Given the description of an element on the screen output the (x, y) to click on. 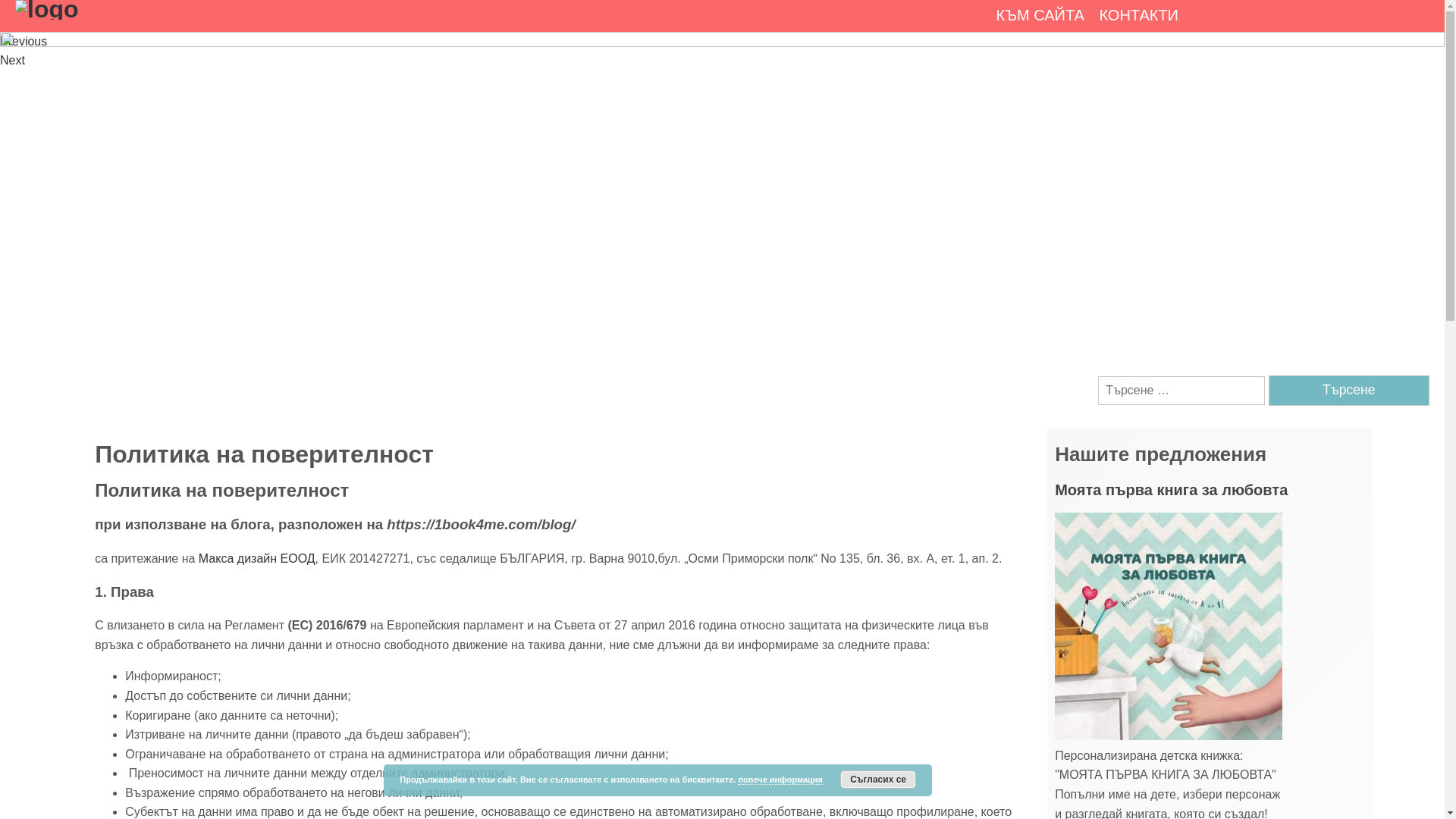
Next Element type: text (12, 59)
Previous Element type: text (23, 40)
